Given the description of an element on the screen output the (x, y) to click on. 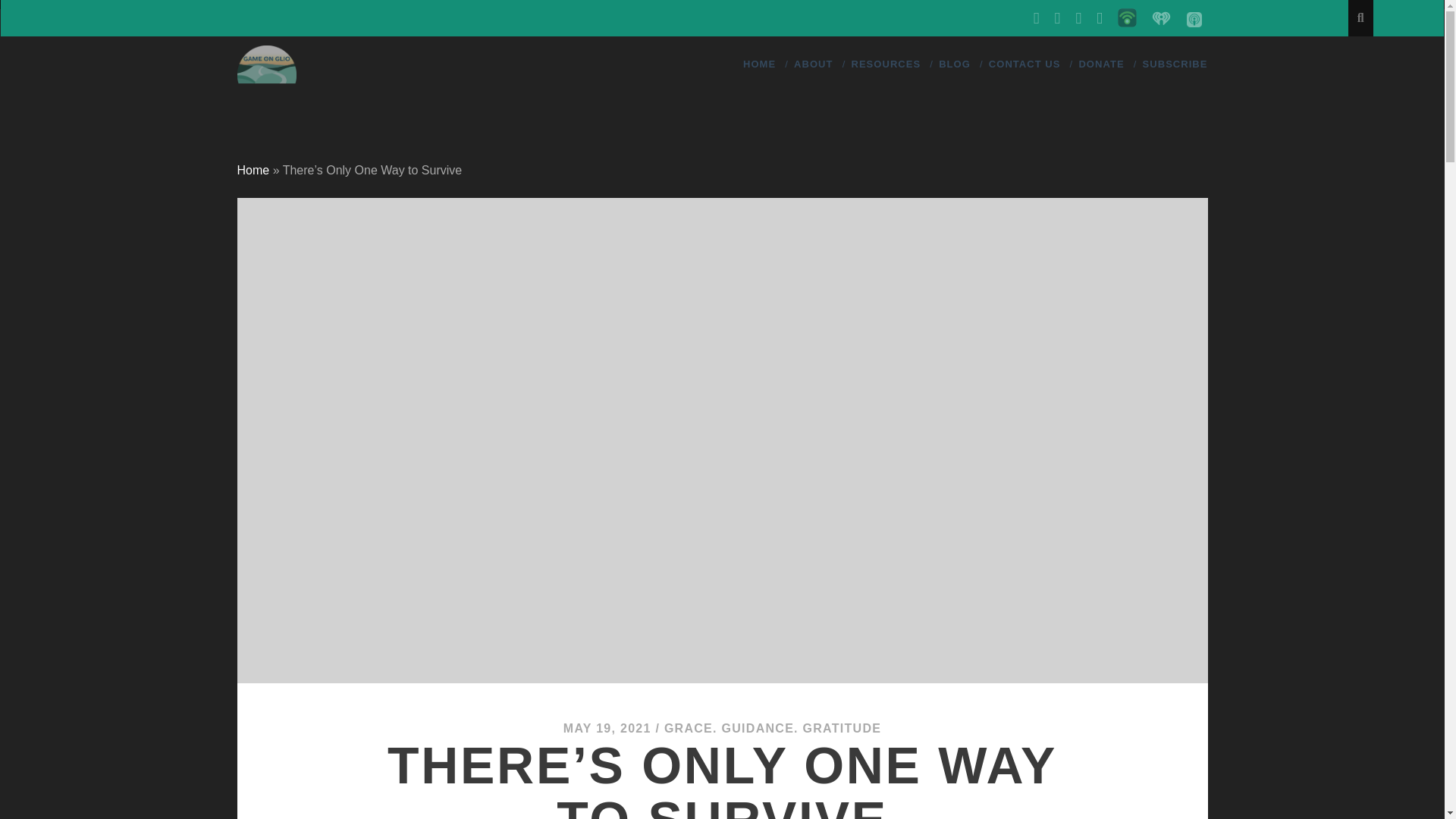
ABOUT (812, 64)
BLOG (955, 64)
HOME (759, 64)
SUBSCRIBE (1175, 64)
GRACE. GUIDANCE. GRATITUDE (771, 727)
DONATE (1101, 64)
RESOURCES (885, 64)
CONTACT US (1024, 64)
Home (252, 169)
